Given the description of an element on the screen output the (x, y) to click on. 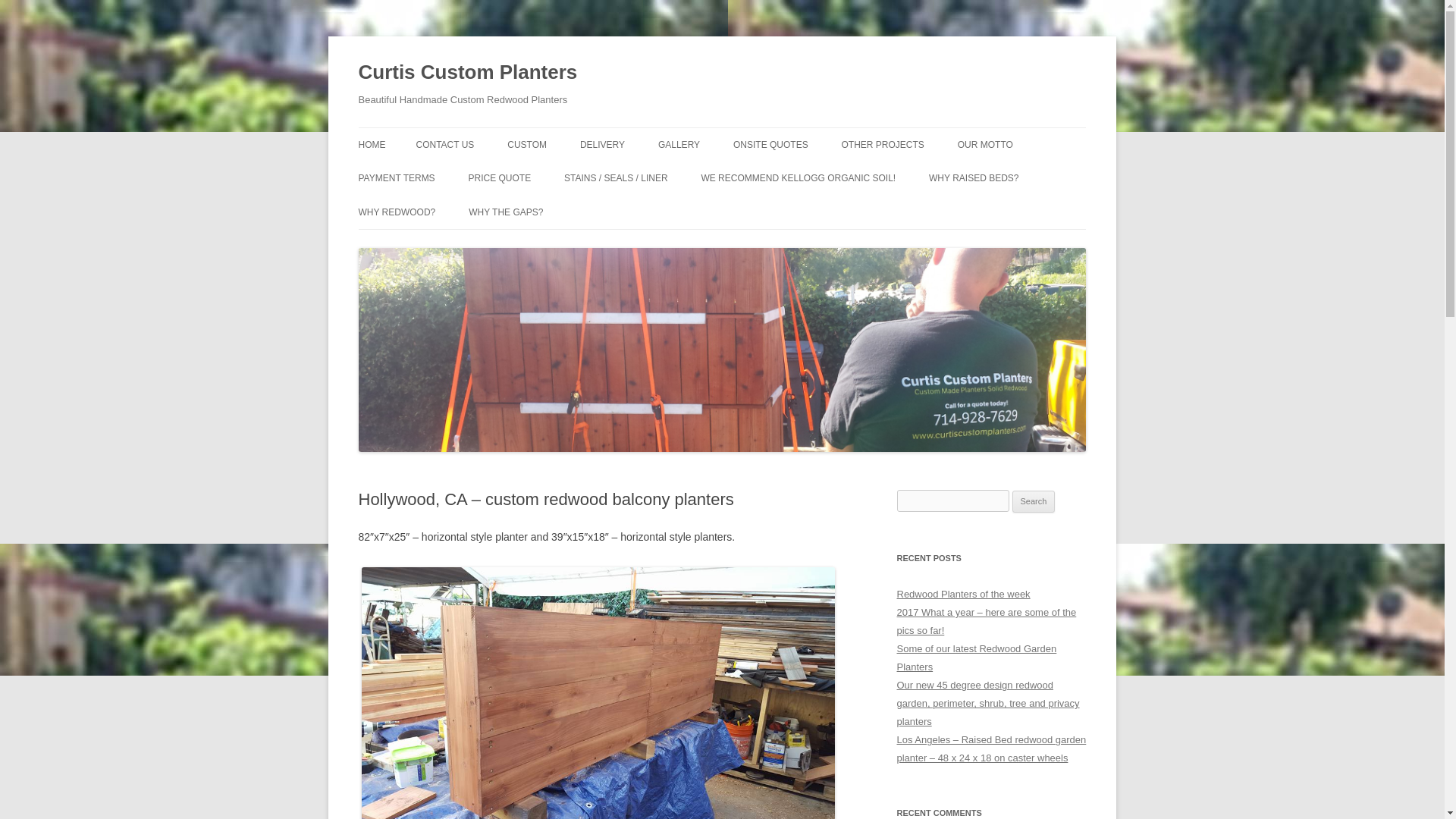
WHY REDWOOD? (396, 212)
ONSITE QUOTES (770, 144)
WHY RAISED BEDS? (972, 177)
CONTACT US (444, 144)
Search (1033, 501)
PAYMENT TERMS (395, 177)
Curtis Custom Planters (467, 72)
WHY THE GAPS? (505, 212)
Curtis Custom Planters (467, 72)
